Given the description of an element on the screen output the (x, y) to click on. 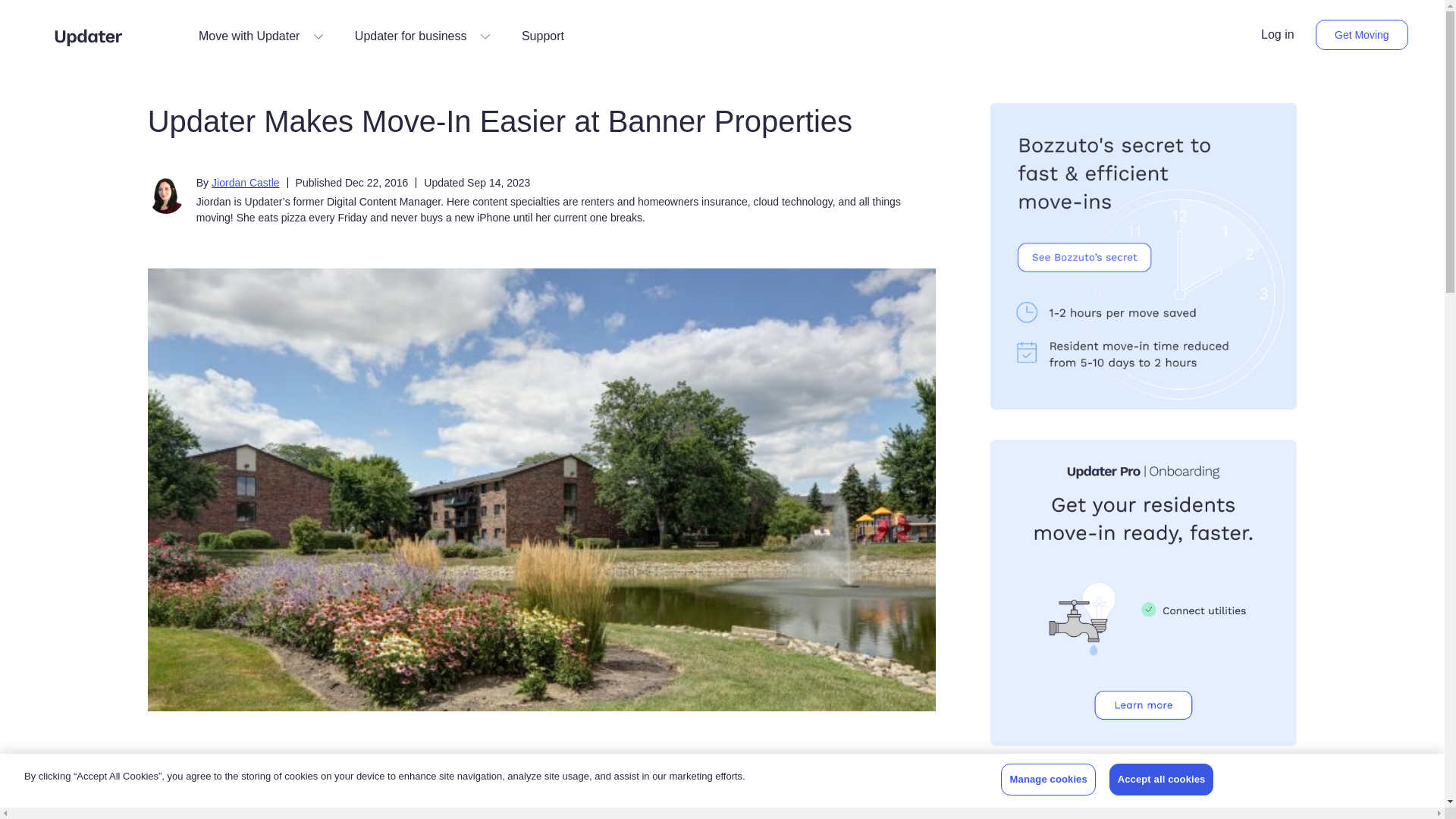
Support (542, 35)
Get Moving (1361, 34)
Updater (88, 36)
Updater for business (422, 36)
Log in (1277, 34)
Move with Updater (261, 36)
